Given the description of an element on the screen output the (x, y) to click on. 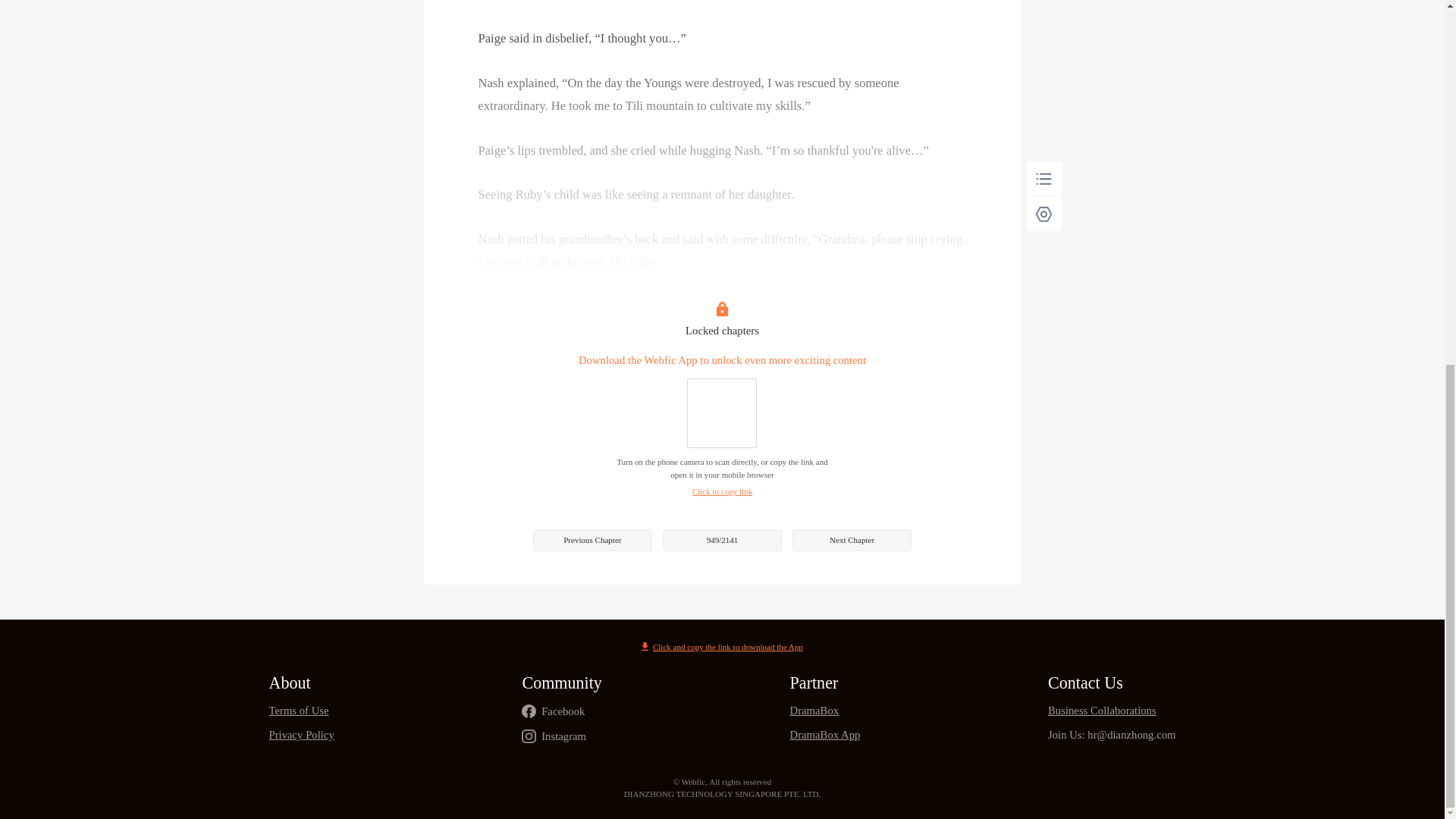
Business Collaborations (1112, 710)
Facebook (563, 711)
Previous Chapter (591, 540)
Next Chapter (851, 540)
DramaBox App (825, 735)
Terms of Use (300, 710)
DramaBox (825, 710)
Instagram (563, 736)
Privacy Policy (300, 735)
